Given the description of an element on the screen output the (x, y) to click on. 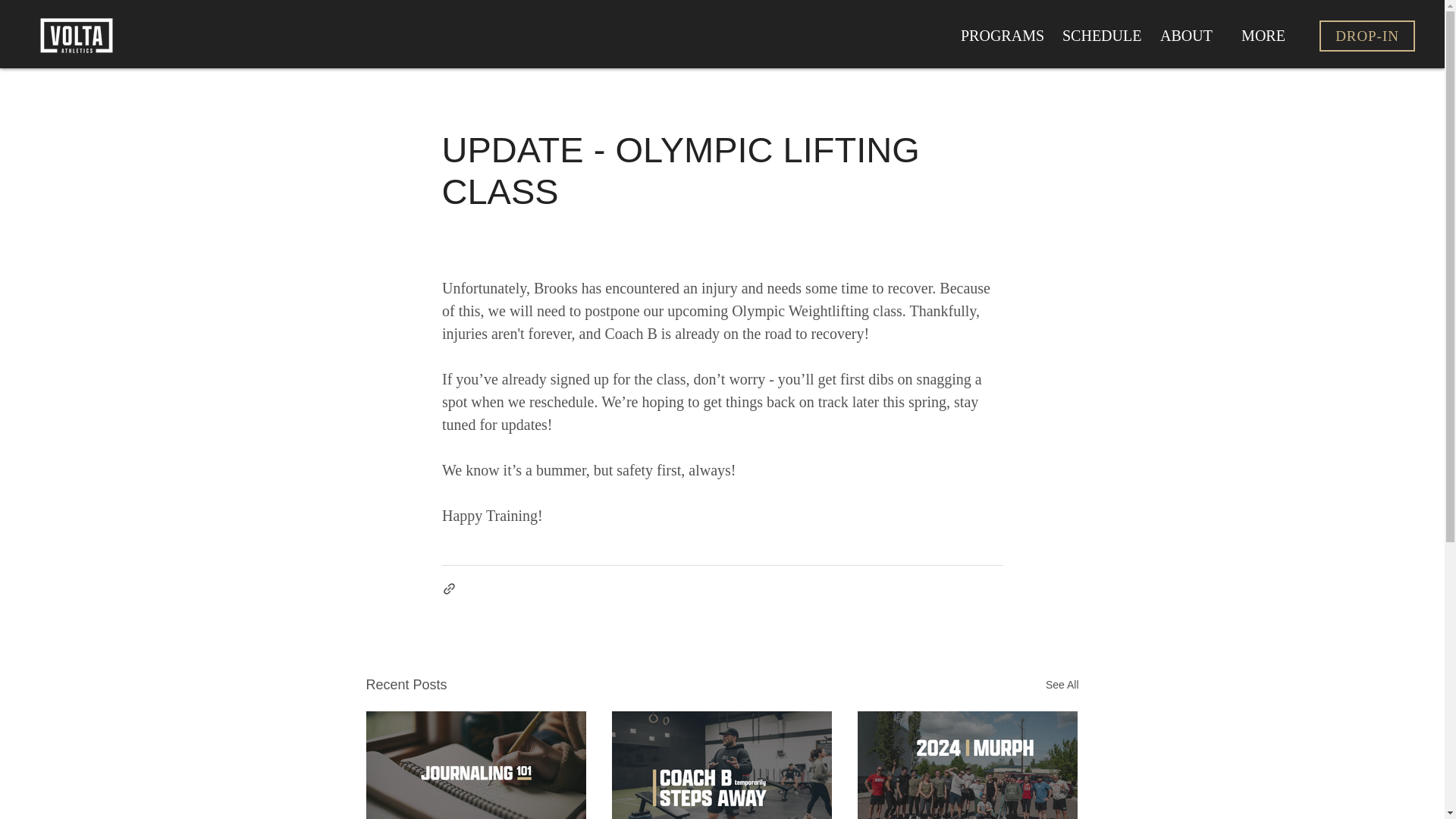
DROP-IN (1367, 35)
SCHEDULE (1099, 35)
See All (1061, 685)
ABOUT (1186, 35)
